Given the description of an element on the screen output the (x, y) to click on. 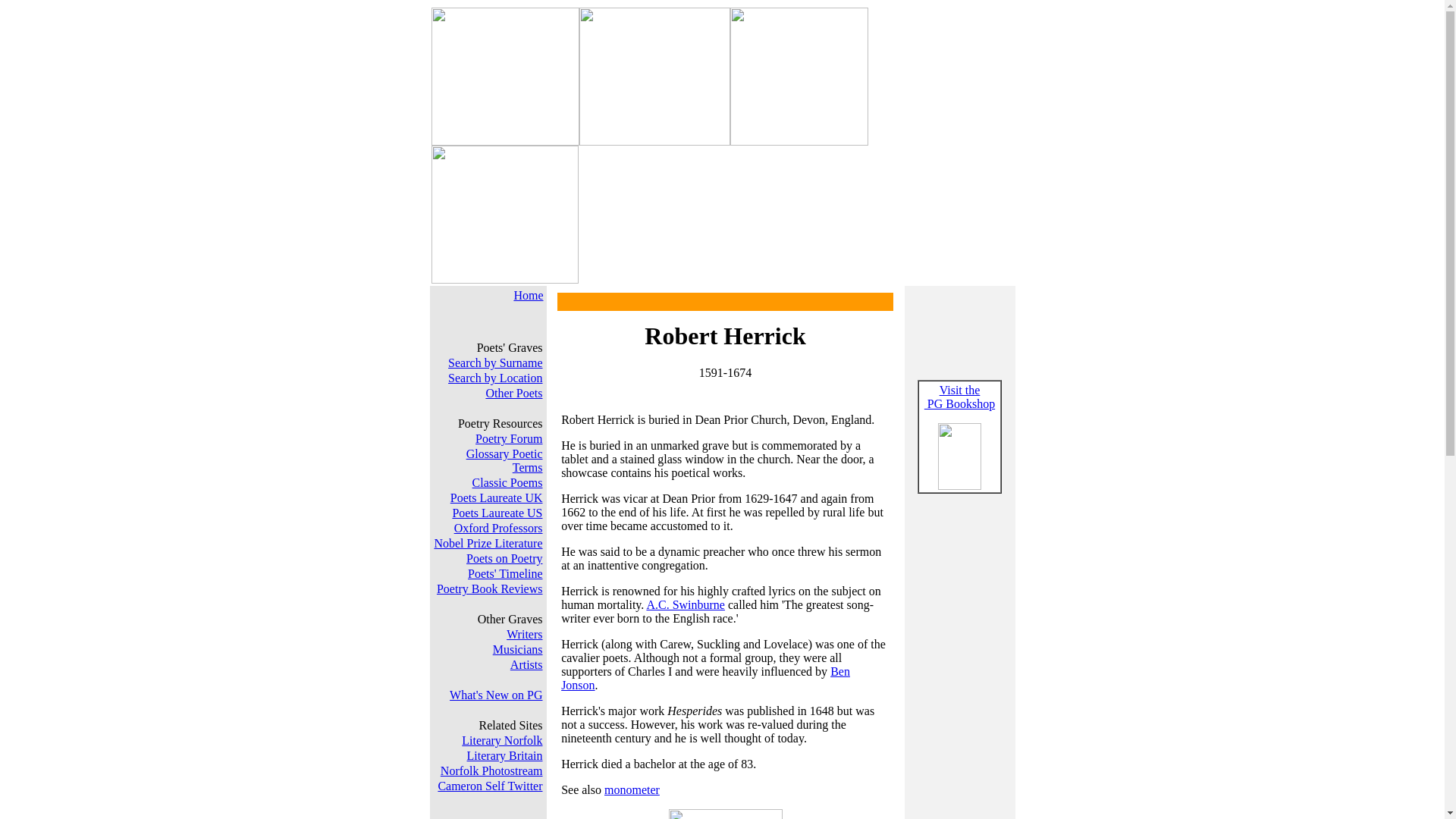
Cameron Self Twitter (489, 785)
Search by Surname (494, 362)
Poets Laureate UK (496, 497)
Ben Jonson (705, 678)
Glossary Poetic Terms (504, 460)
Poets on Poetry (503, 558)
Other Poets (959, 397)
Poets Laureate US (512, 392)
Norfolk Photostream (496, 512)
A.C. Swinburne (492, 770)
Musicians (685, 604)
Literary Britain (518, 649)
Search by Location (505, 755)
Artists (494, 377)
